Given the description of an element on the screen output the (x, y) to click on. 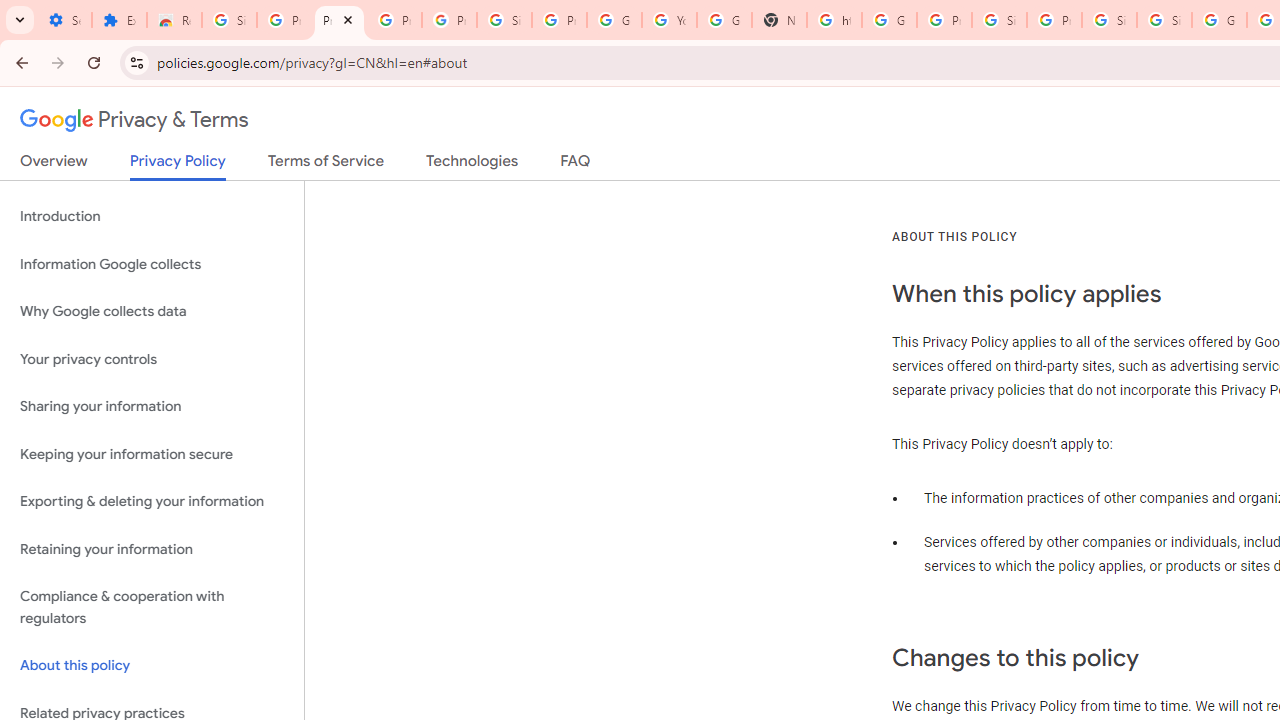
YouTube (669, 20)
https://scholar.google.com/ (833, 20)
Compliance & cooperation with regulators (152, 607)
About this policy (152, 666)
Your privacy controls (152, 358)
New Tab (779, 20)
Retaining your information (152, 548)
